Given the description of an element on the screen output the (x, y) to click on. 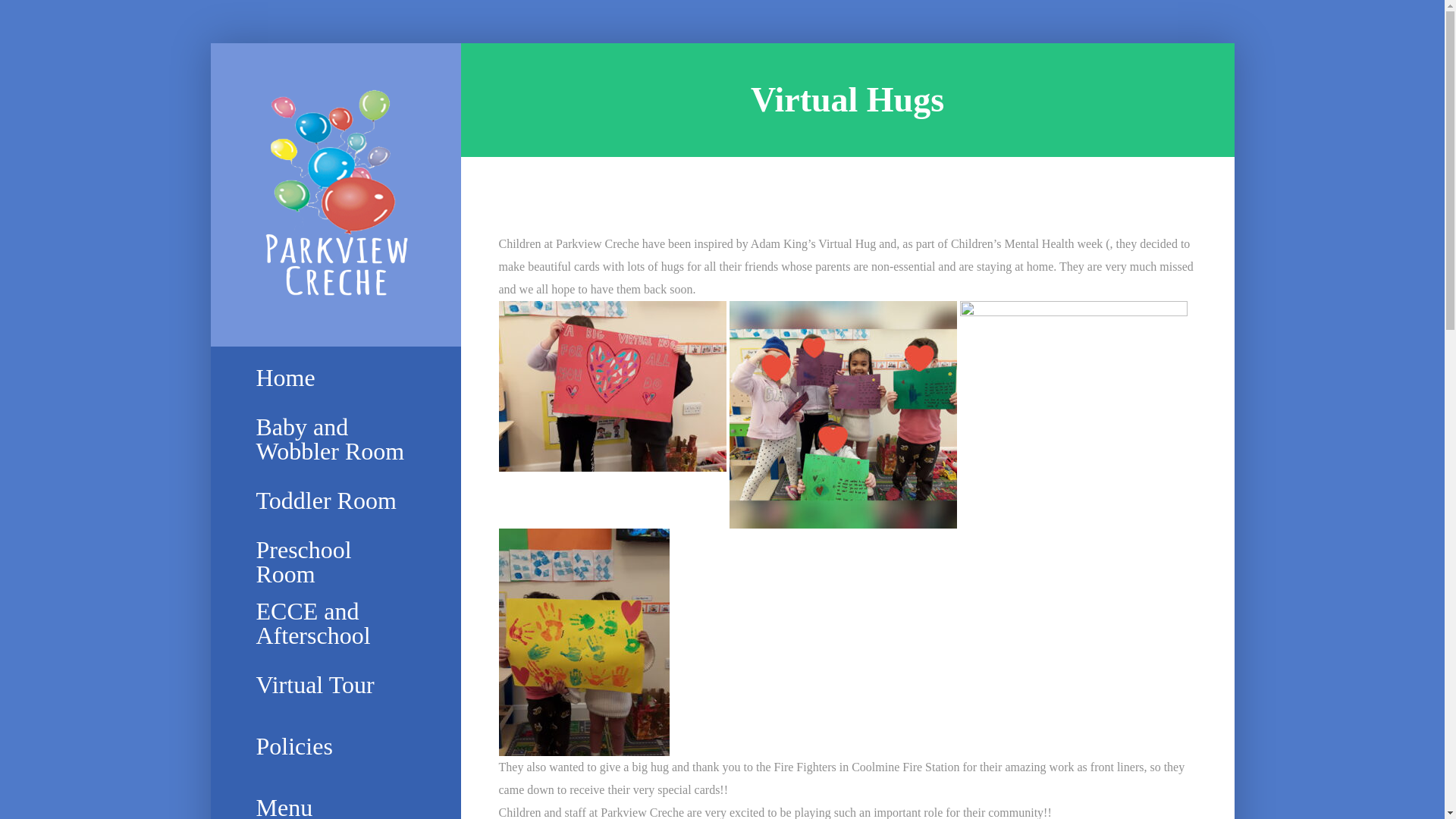
Baby and Wobbler Room (335, 439)
Policies (335, 746)
Menu (335, 798)
Virtual Tour (335, 684)
Toddler Room (335, 500)
Home (335, 377)
ECCE and Afterschool (335, 623)
Preschool Room (335, 561)
